Given the description of an element on the screen output the (x, y) to click on. 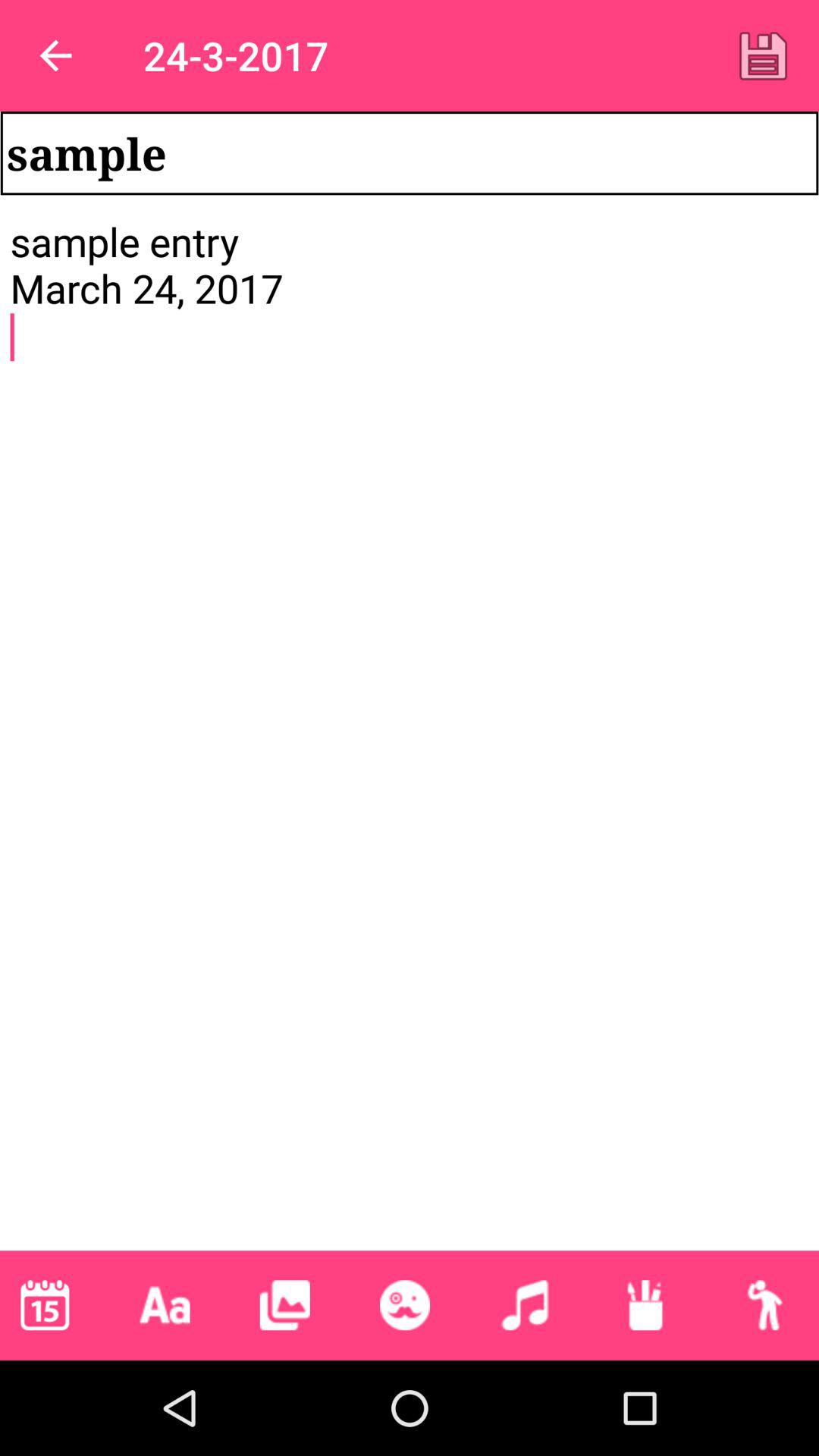
turn on the icon below the sample entry march (44, 1305)
